Given the description of an element on the screen output the (x, y) to click on. 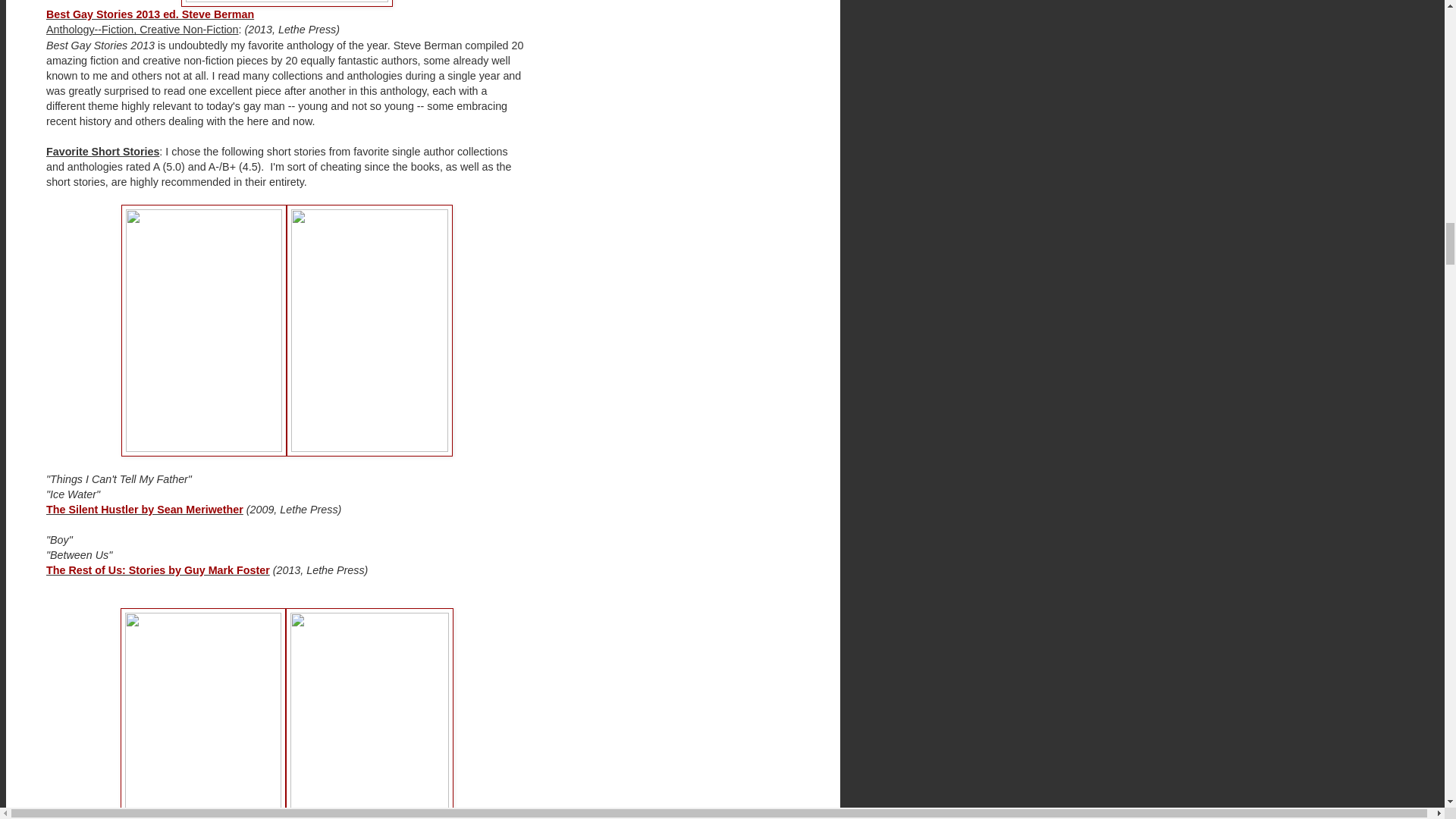
The Rest of Us: Stories by Guy Mark Foster (157, 570)
Best Gay Stories 2013 ed. Steve Berman (149, 14)
The Silent Hustler by Sean Meriwether (144, 509)
